Given the description of an element on the screen output the (x, y) to click on. 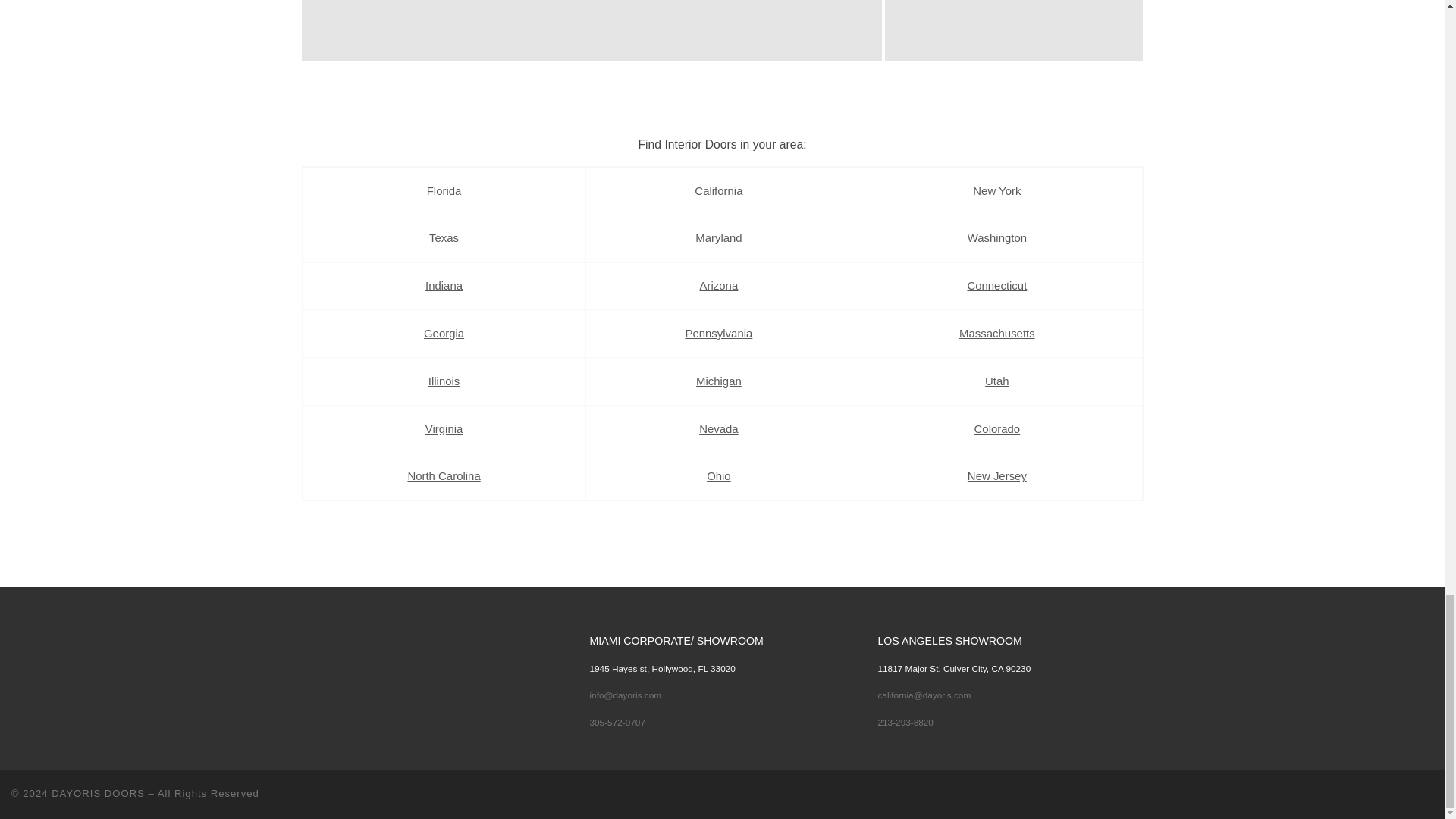
DAYORIS DOORS (97, 793)
